Given the description of an element on the screen output the (x, y) to click on. 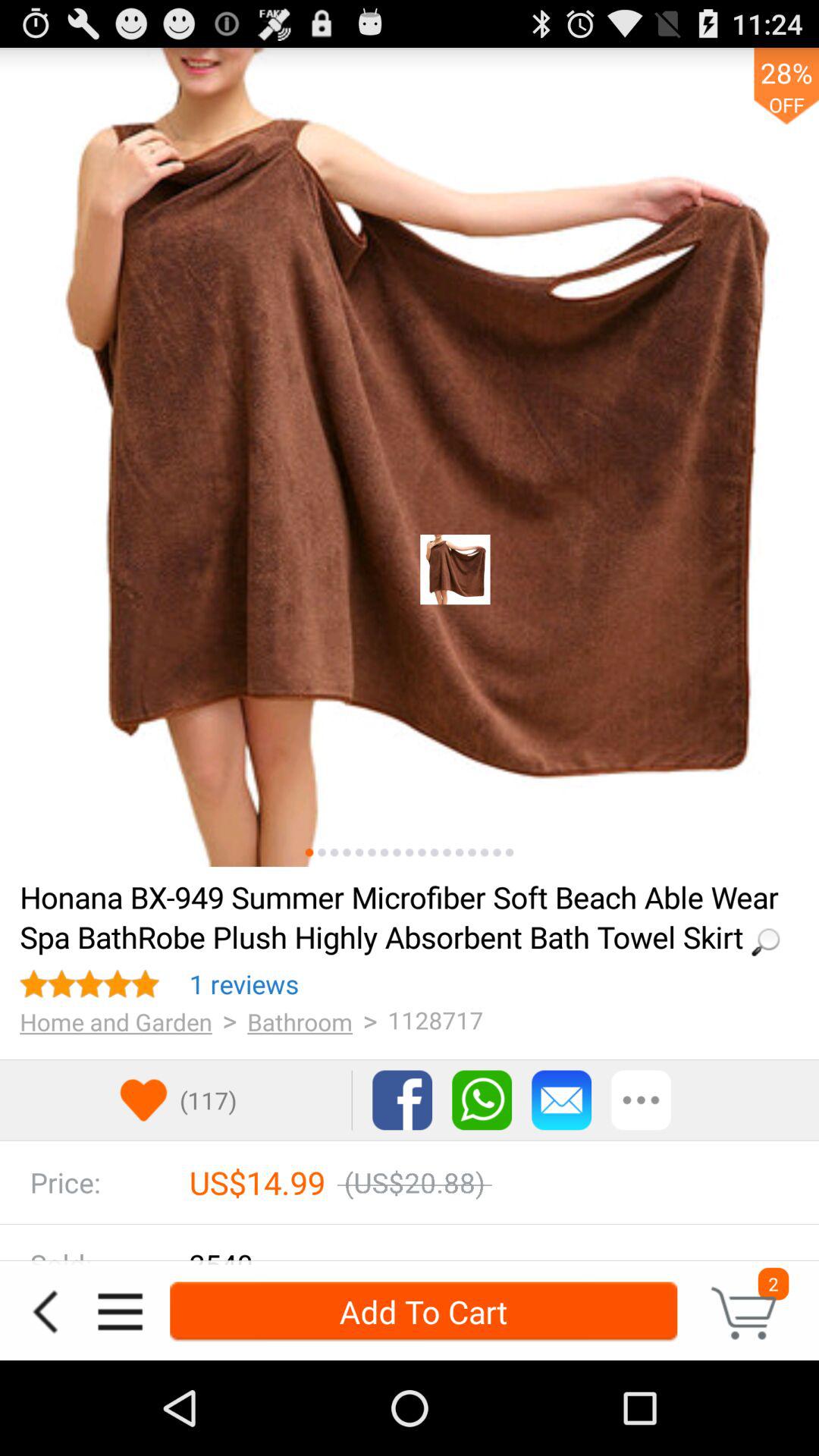
turn on bathroom icon (299, 1021)
